Given the description of an element on the screen output the (x, y) to click on. 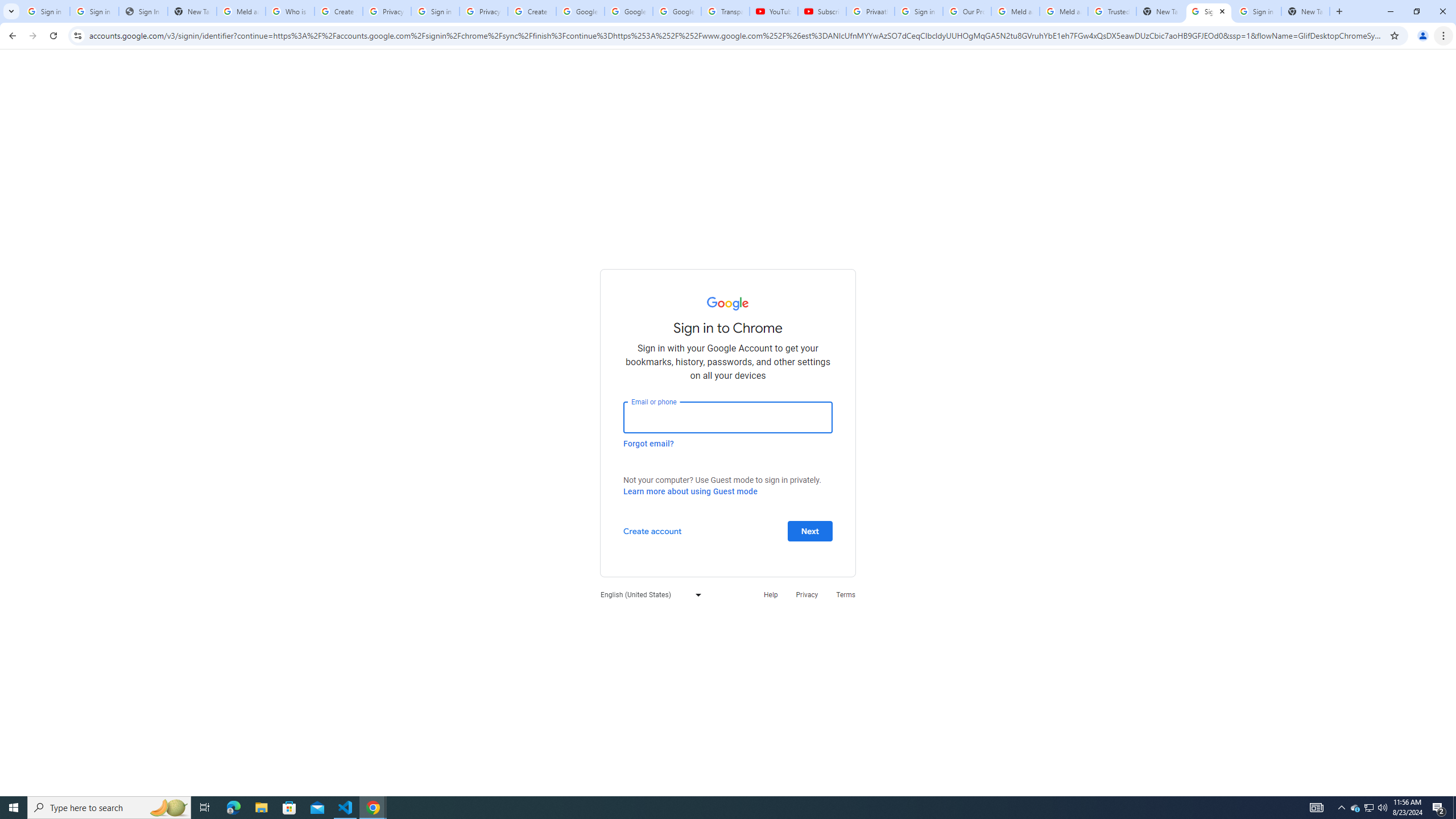
Google Account (676, 11)
Sign In - USA TODAY (143, 11)
Sign in - Google Accounts (45, 11)
Sign in - Google Accounts (94, 11)
Email or phone (727, 417)
Sign in - Google Accounts (435, 11)
Who is my administrator? - Google Account Help (290, 11)
Forgot email? (648, 443)
